Given the description of an element on the screen output the (x, y) to click on. 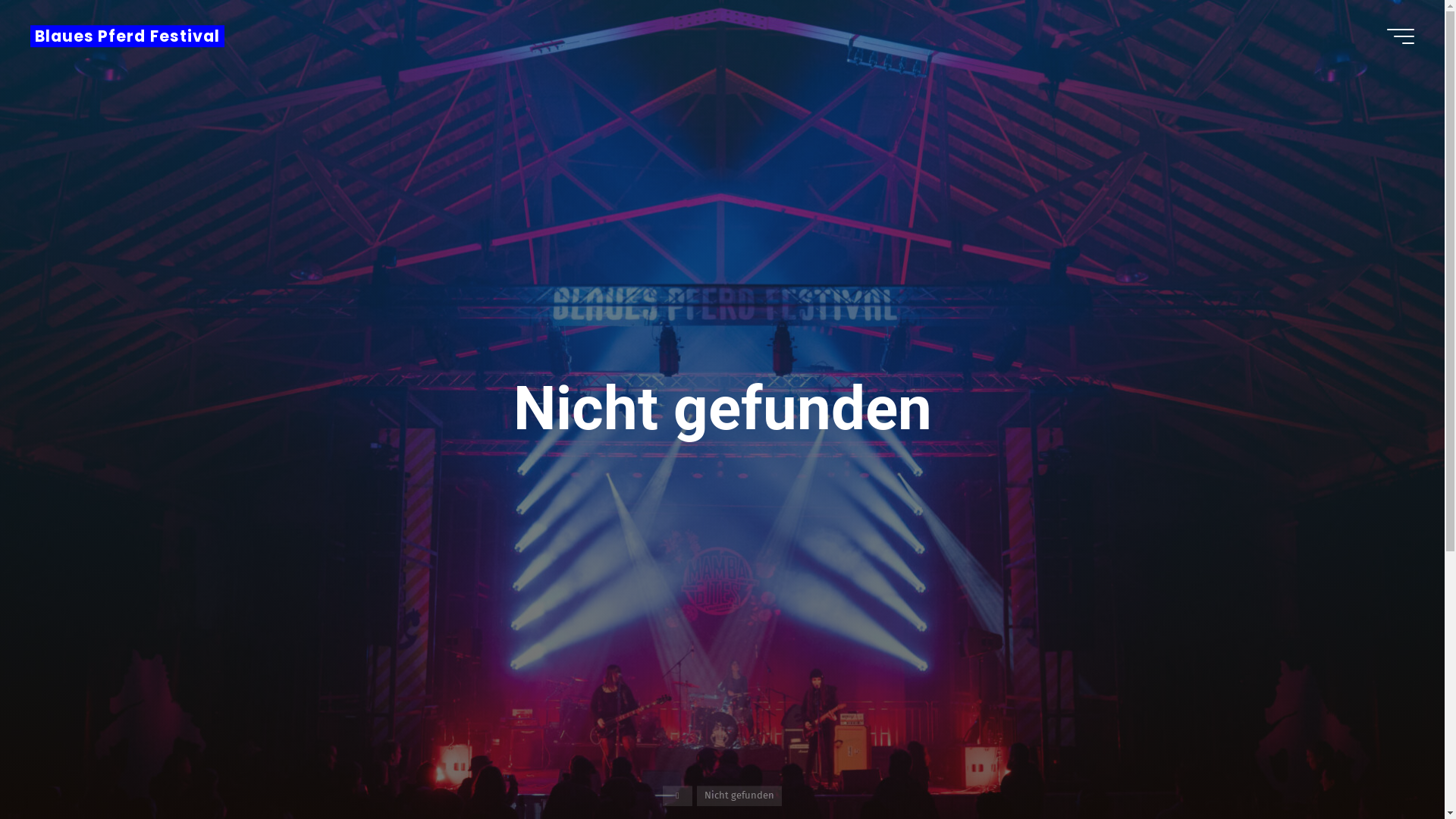
Weiterlesen Element type: hover (721, 724)
Startseite Element type: text (677, 795)
Blaues Pferd Festival Element type: text (127, 36)
